Given the description of an element on the screen output the (x, y) to click on. 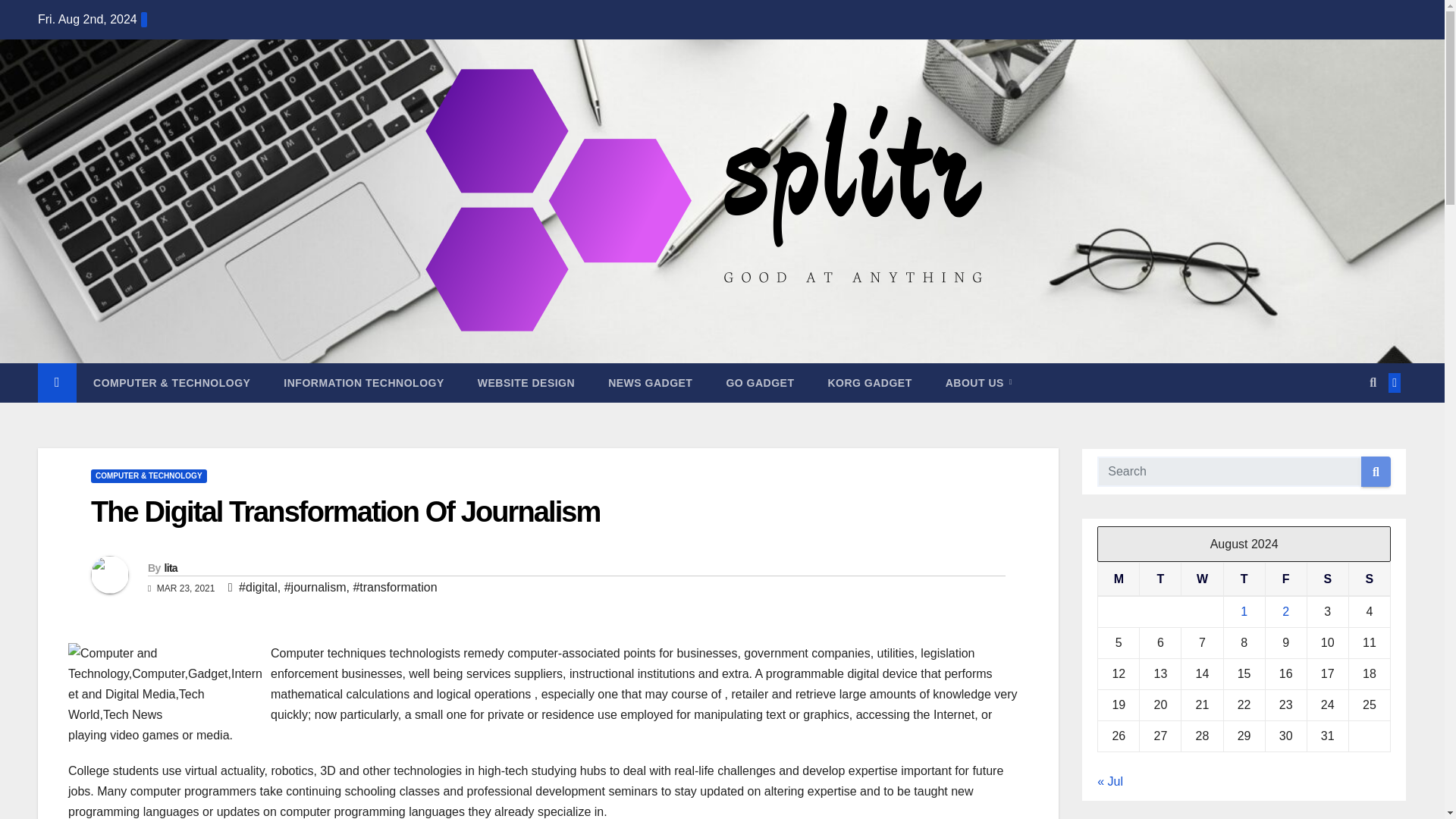
Korg Gadget (869, 382)
GO GADGET (759, 382)
News Gadget (650, 382)
ABOUT US (978, 382)
WEBSITE DESIGN (526, 382)
Information Technology (363, 382)
The Digital Transformation Of Journalism (344, 511)
NEWS GADGET (650, 382)
About Us (978, 382)
INFORMATION TECHNOLOGY (363, 382)
